Given the description of an element on the screen output the (x, y) to click on. 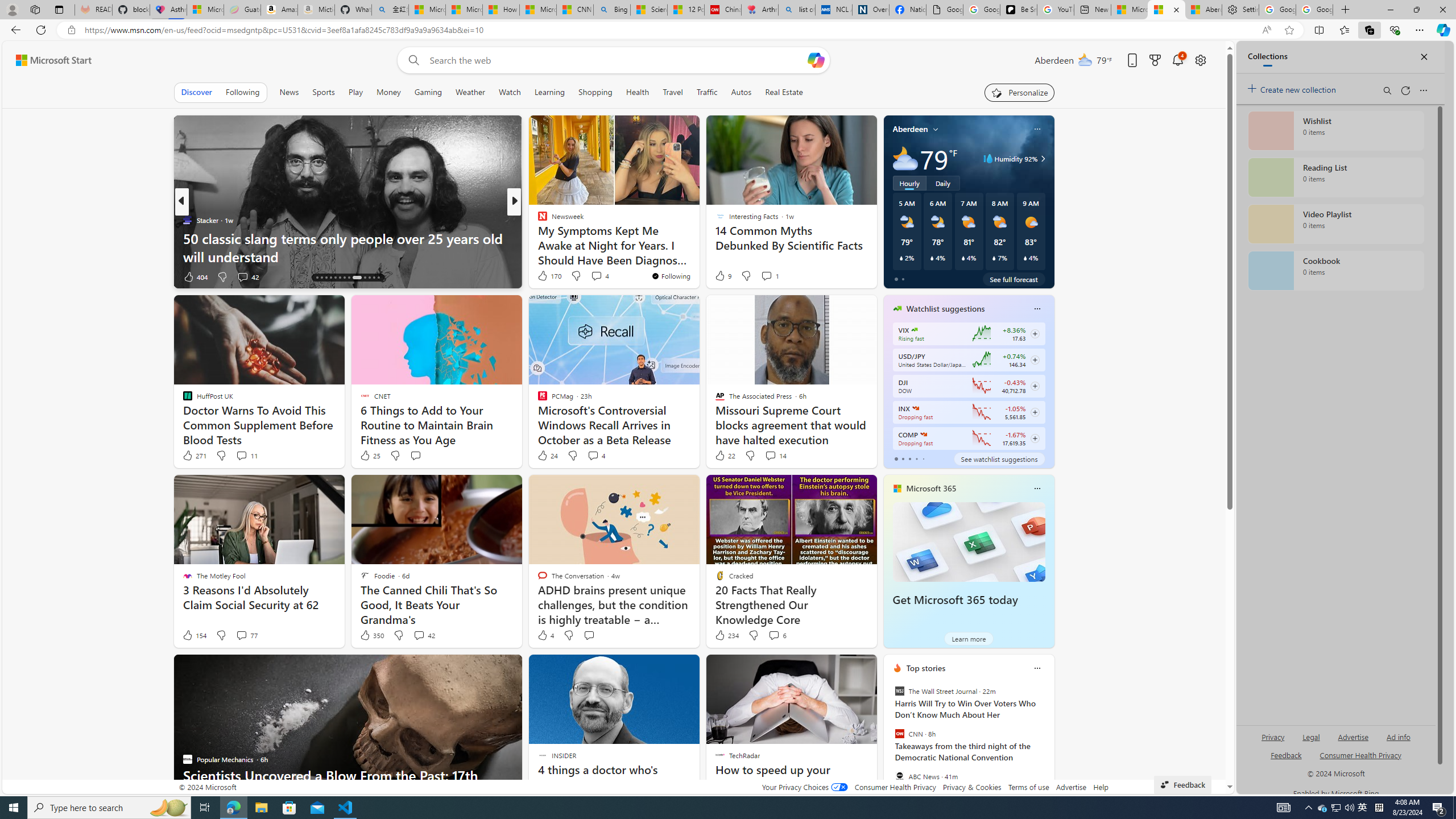
Get Microsoft 365 today (954, 600)
AutomationID: tab-23 (364, 277)
Kinda Frugal (537, 238)
Daily (942, 183)
76 Like (543, 276)
View comments 77 Comment (241, 635)
View comments 77 Comment (246, 634)
